Given the description of an element on the screen output the (x, y) to click on. 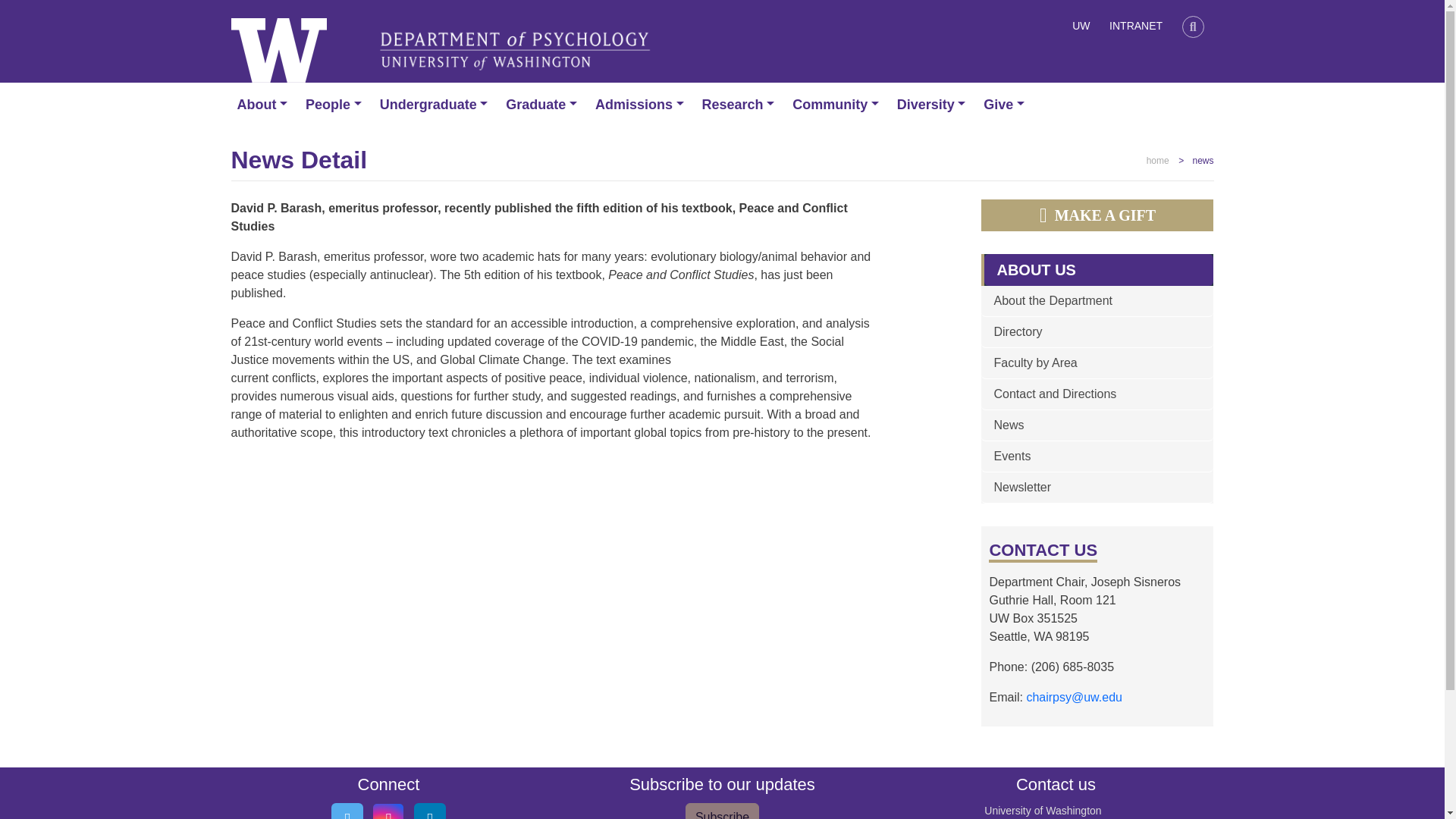
Graduate (544, 104)
Search Button (1193, 26)
UW (1080, 28)
Research (741, 104)
About (264, 104)
Admissions (642, 104)
UW Homepage (1080, 28)
Undergraduate (437, 104)
People (336, 104)
Search Button (1193, 28)
